Given the description of an element on the screen output the (x, y) to click on. 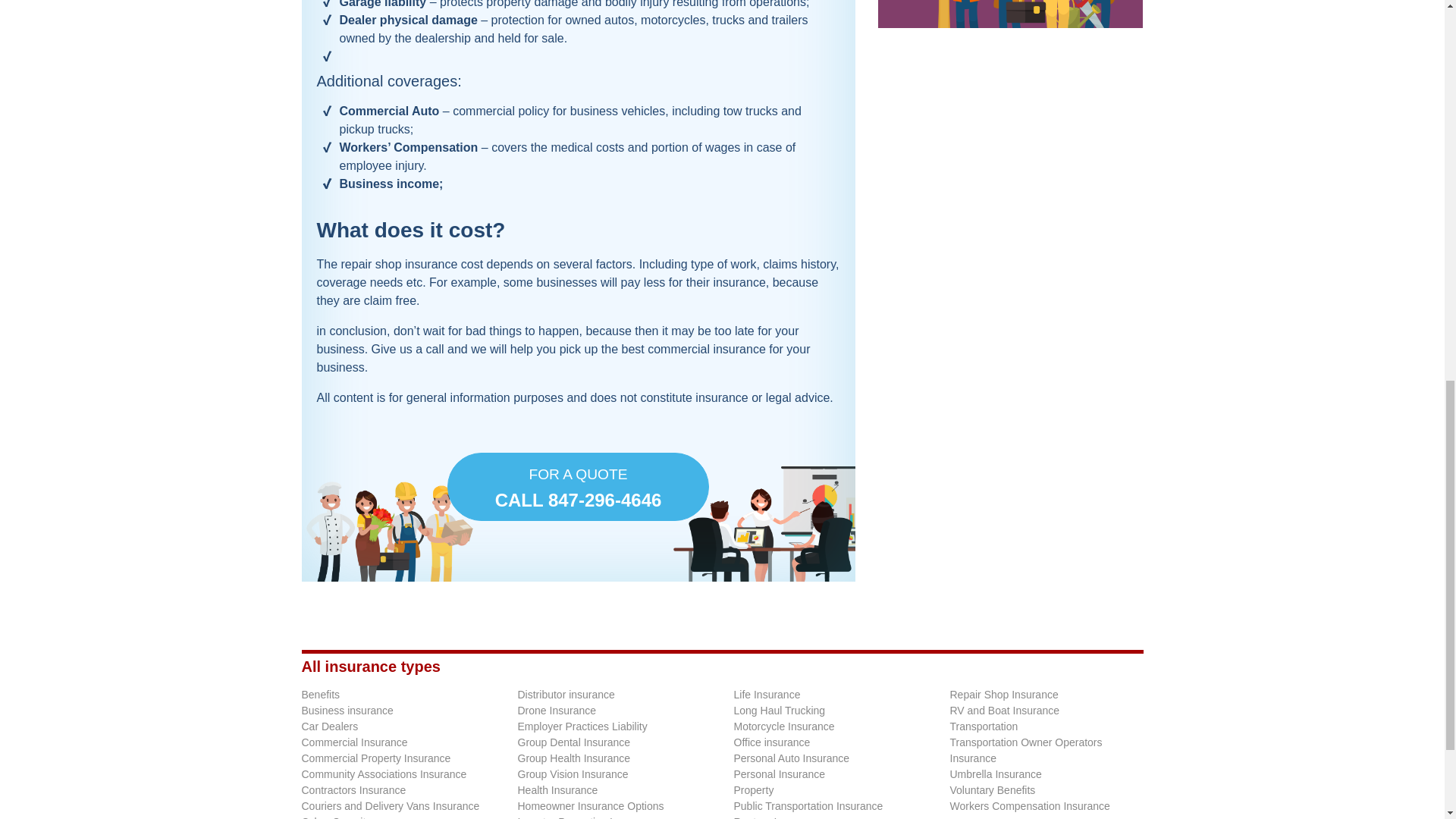
Benefits (320, 694)
Car Dealers (329, 726)
Commercial Insurance (354, 742)
Contractors Insurance (353, 789)
Commercial Property Insurance (376, 758)
Community Associations Insurance (384, 774)
Couriers and Delivery Vans Insurance (390, 806)
Business insurance (347, 710)
Cyber Security (577, 486)
